Given the description of an element on the screen output the (x, y) to click on. 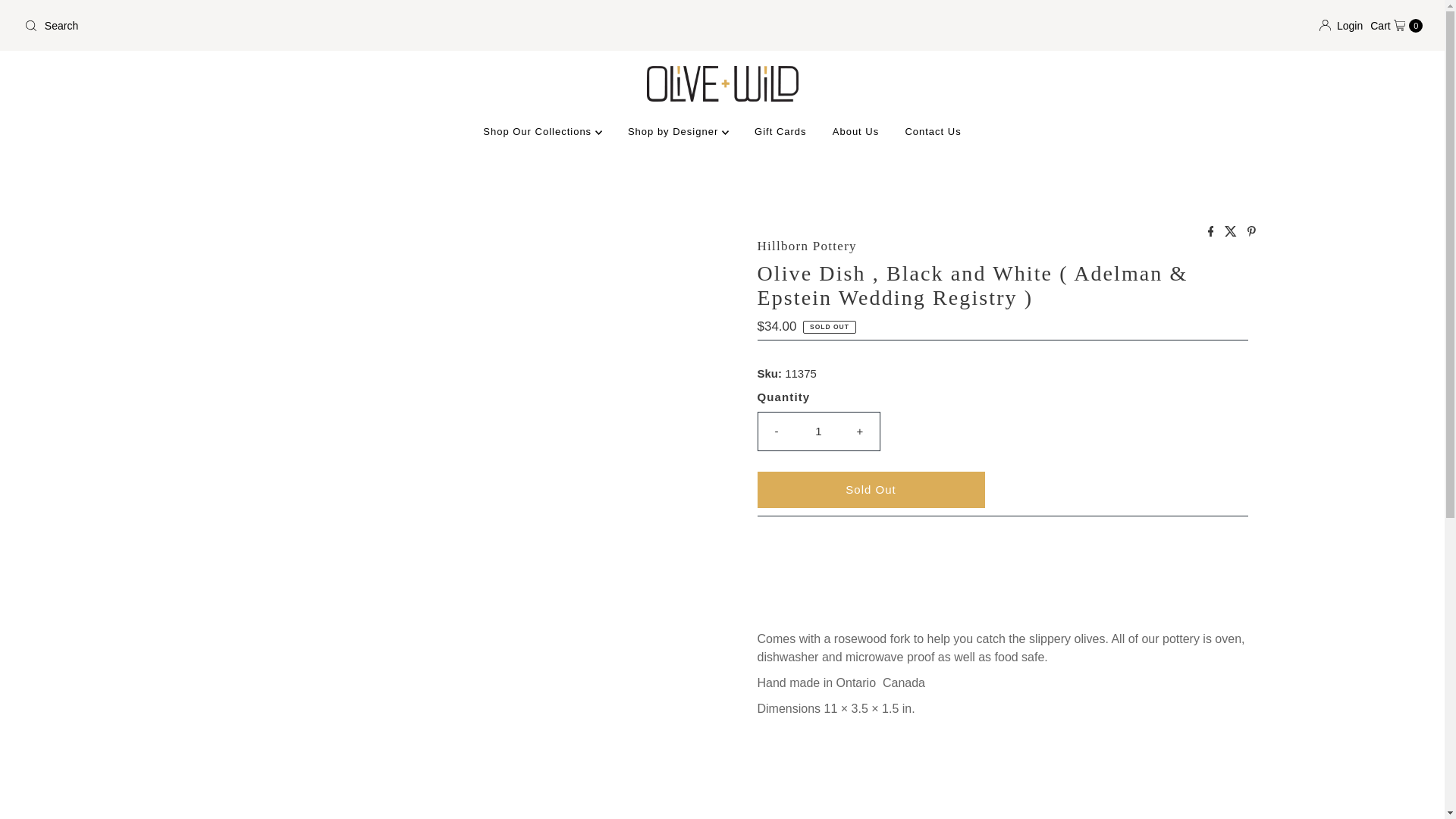
Share on Twitter (1232, 232)
Sold Out (870, 489)
Skip to content (53, 18)
1 (818, 431)
Search our store (366, 25)
